Given the description of an element on the screen output the (x, y) to click on. 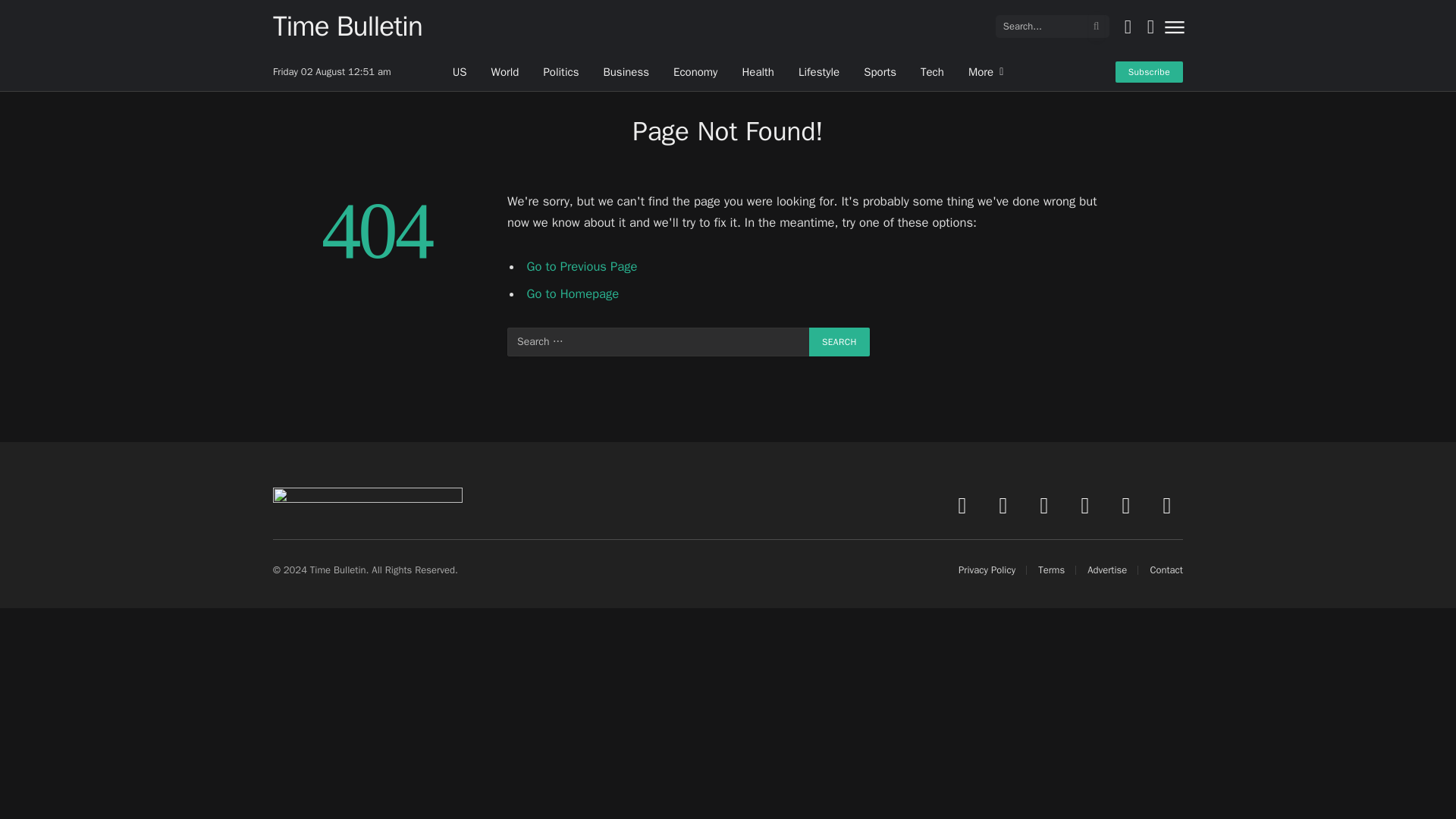
Health (757, 71)
Time Bulletin (347, 25)
Politics (561, 71)
More (985, 71)
US (460, 71)
Business (626, 71)
Tech (932, 71)
Lifestyle (818, 71)
Time Bulletin (347, 25)
Switch to Light Design. (1127, 26)
Search (839, 341)
Search (839, 341)
World (505, 71)
Economy (695, 71)
Sports (879, 71)
